Given the description of an element on the screen output the (x, y) to click on. 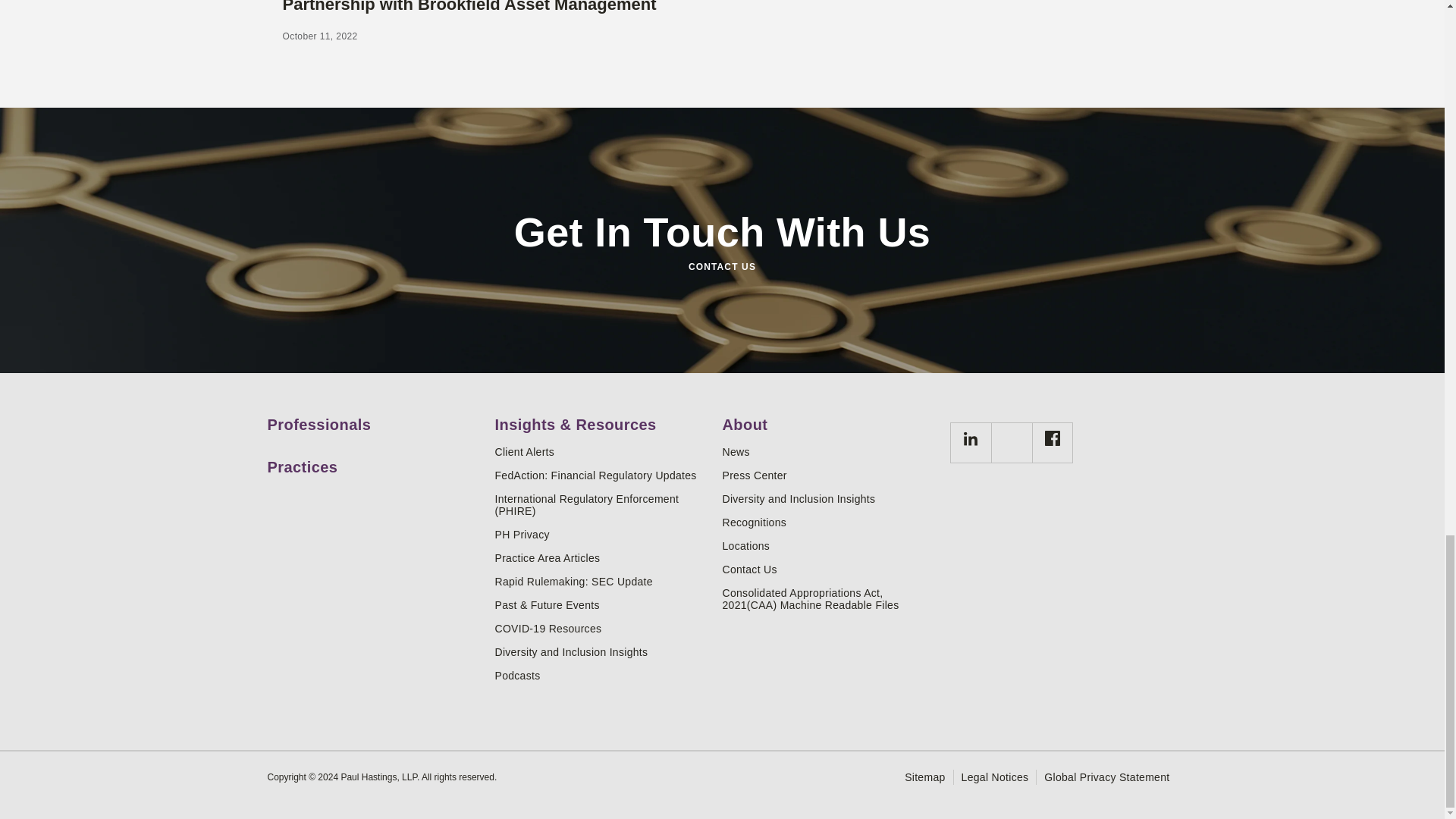
Rapid Rulemaking: SEC Update (602, 581)
Professionals (374, 418)
BC42128A-F0DE-4FE2-9372-6CDE6D4F5957Created with sketchtool. (1052, 437)
COVID-19 Resources (602, 628)
Practice Area Articles (602, 558)
CB6A0679-7CD4-47AB-9AF9-079521319001Created with sketchtool. (969, 438)
Diversity and Inclusion Insights (602, 652)
Client Alerts (602, 451)
FedAction: Financial Regulatory Updates (602, 475)
PH Privacy (602, 534)
Practices (374, 460)
CONTACT US (721, 266)
